Given the description of an element on the screen output the (x, y) to click on. 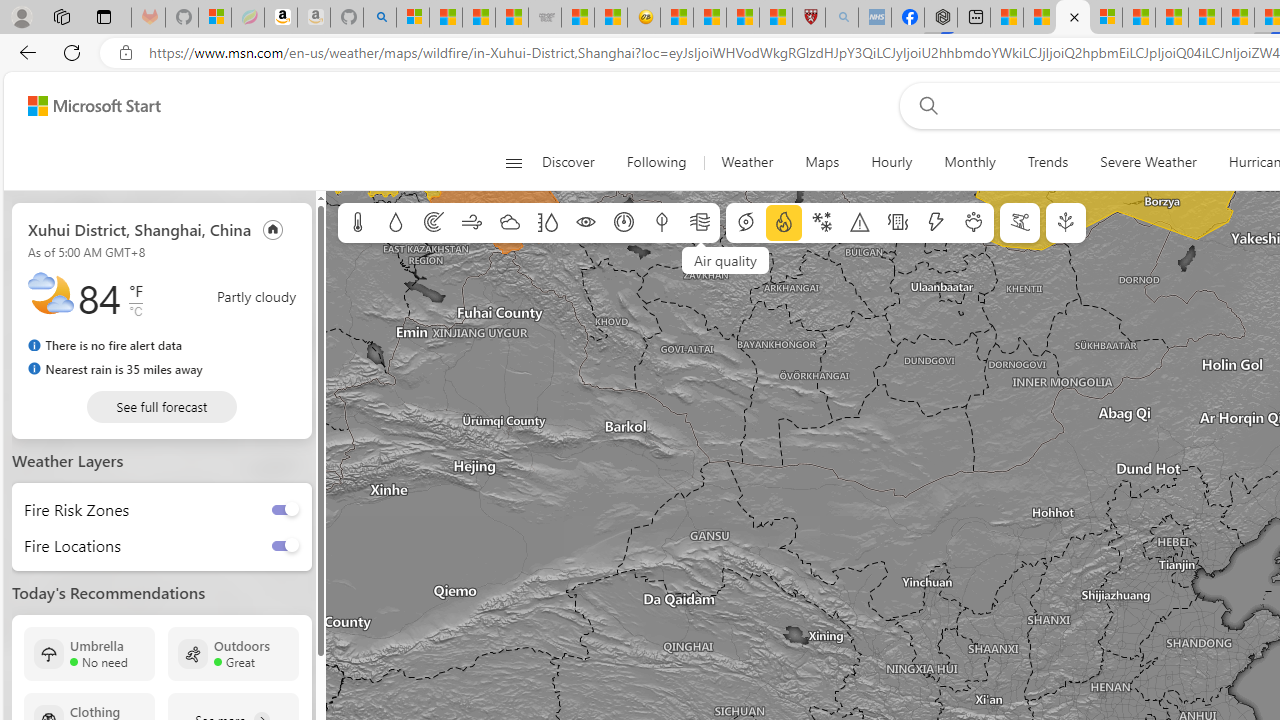
See full forecast (161, 406)
Set as primary location (273, 228)
Trends (1048, 162)
Air quality (700, 223)
